Given the description of an element on the screen output the (x, y) to click on. 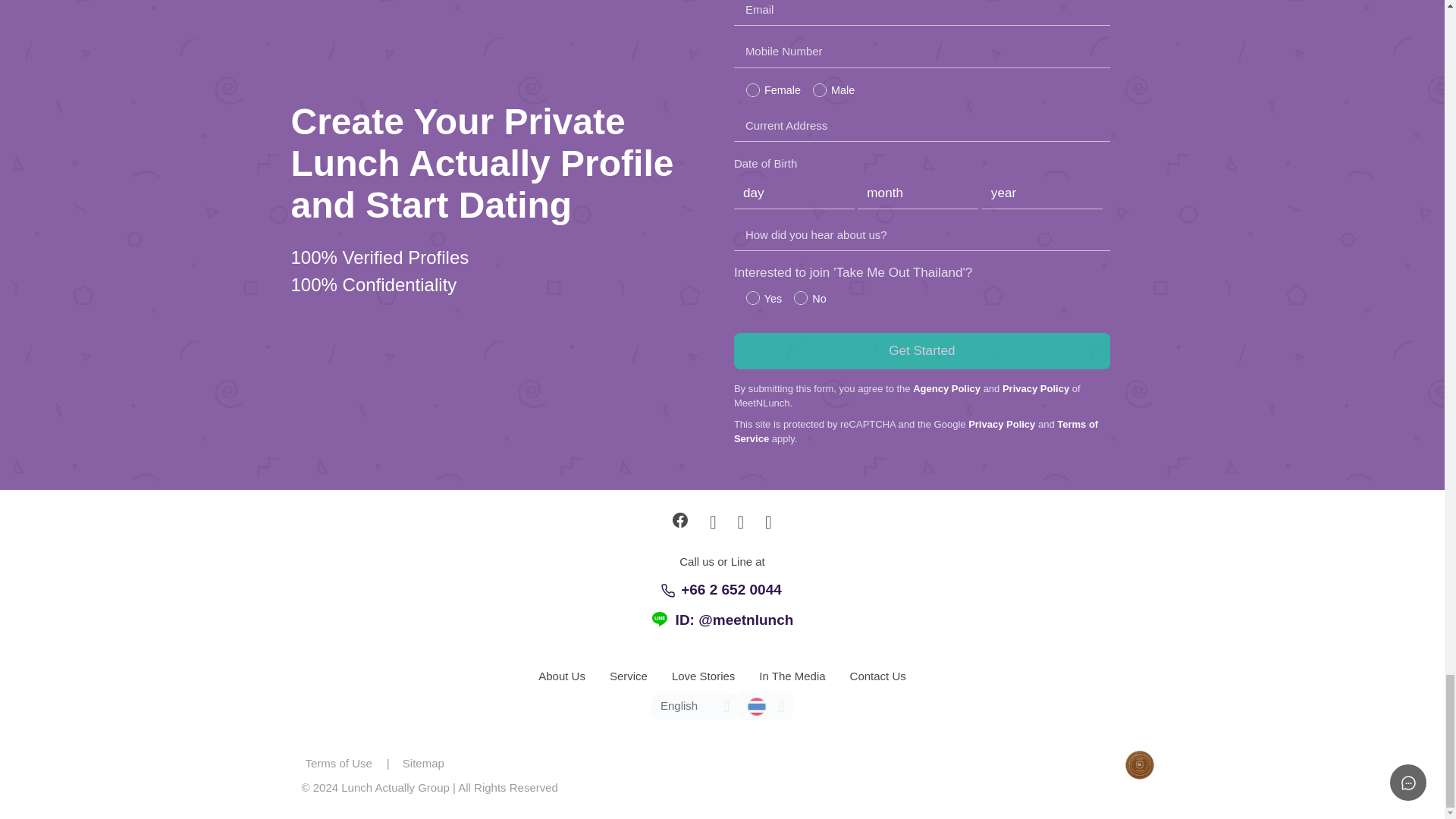
2 (752, 89)
1 (752, 297)
Get Started (921, 350)
2 (800, 297)
1 (819, 89)
